Given the description of an element on the screen output the (x, y) to click on. 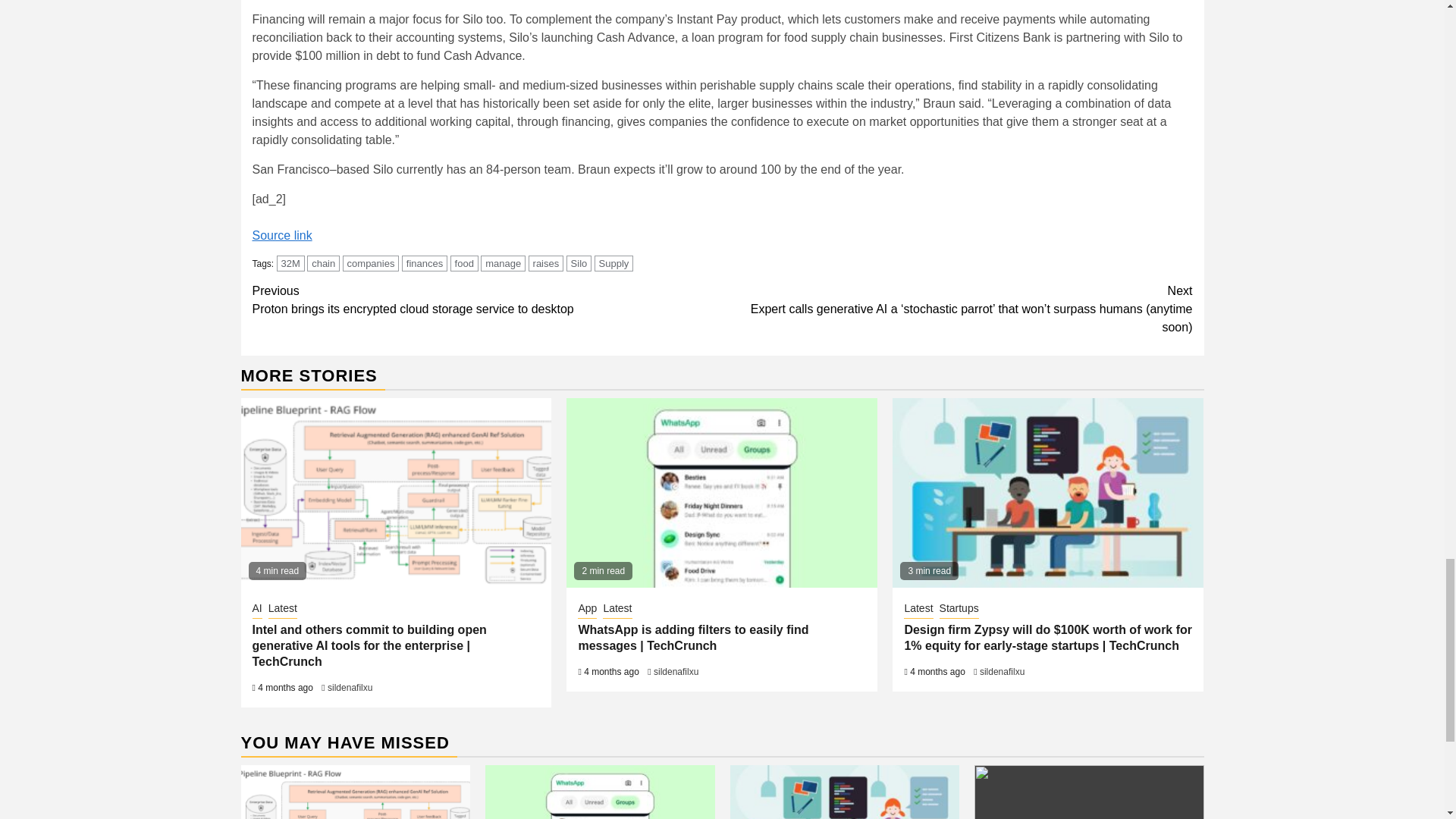
chain (323, 263)
32M (290, 263)
Source link (281, 235)
